Given the description of an element on the screen output the (x, y) to click on. 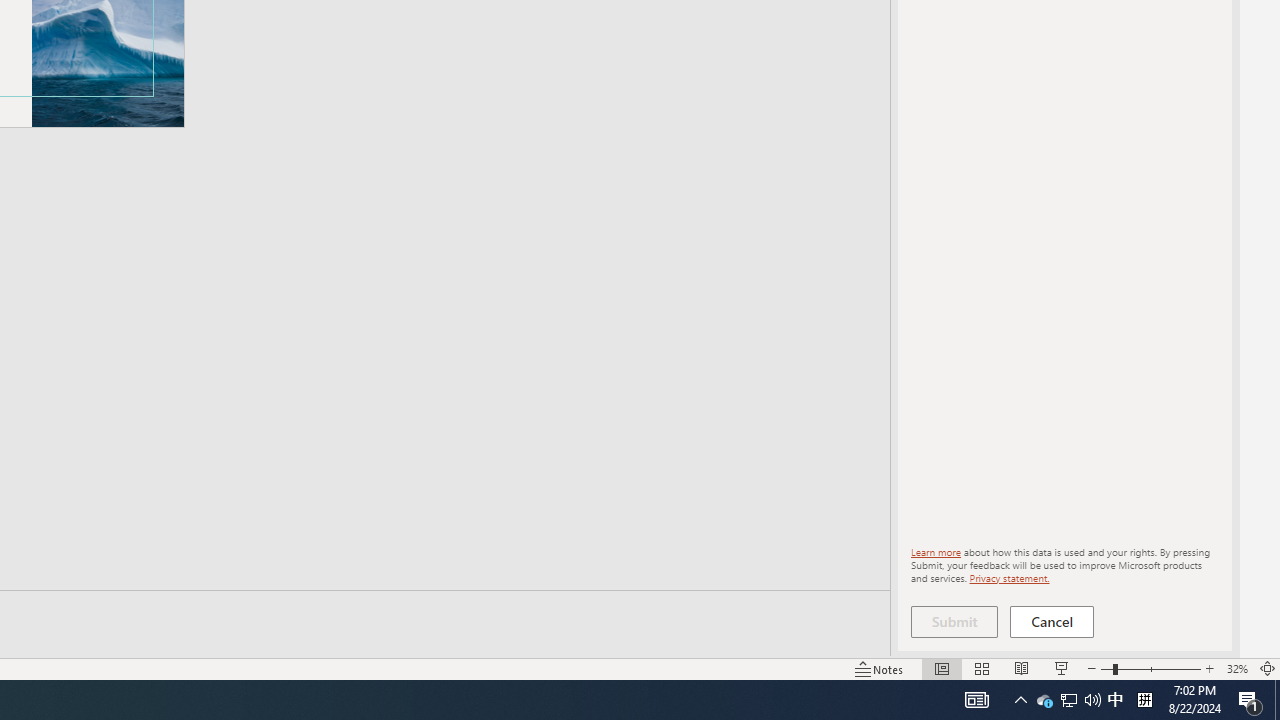
Submit (954, 621)
Privacy statement. (1008, 577)
Zoom 32% (1236, 668)
Learn more (936, 551)
